Given the description of an element on the screen output the (x, y) to click on. 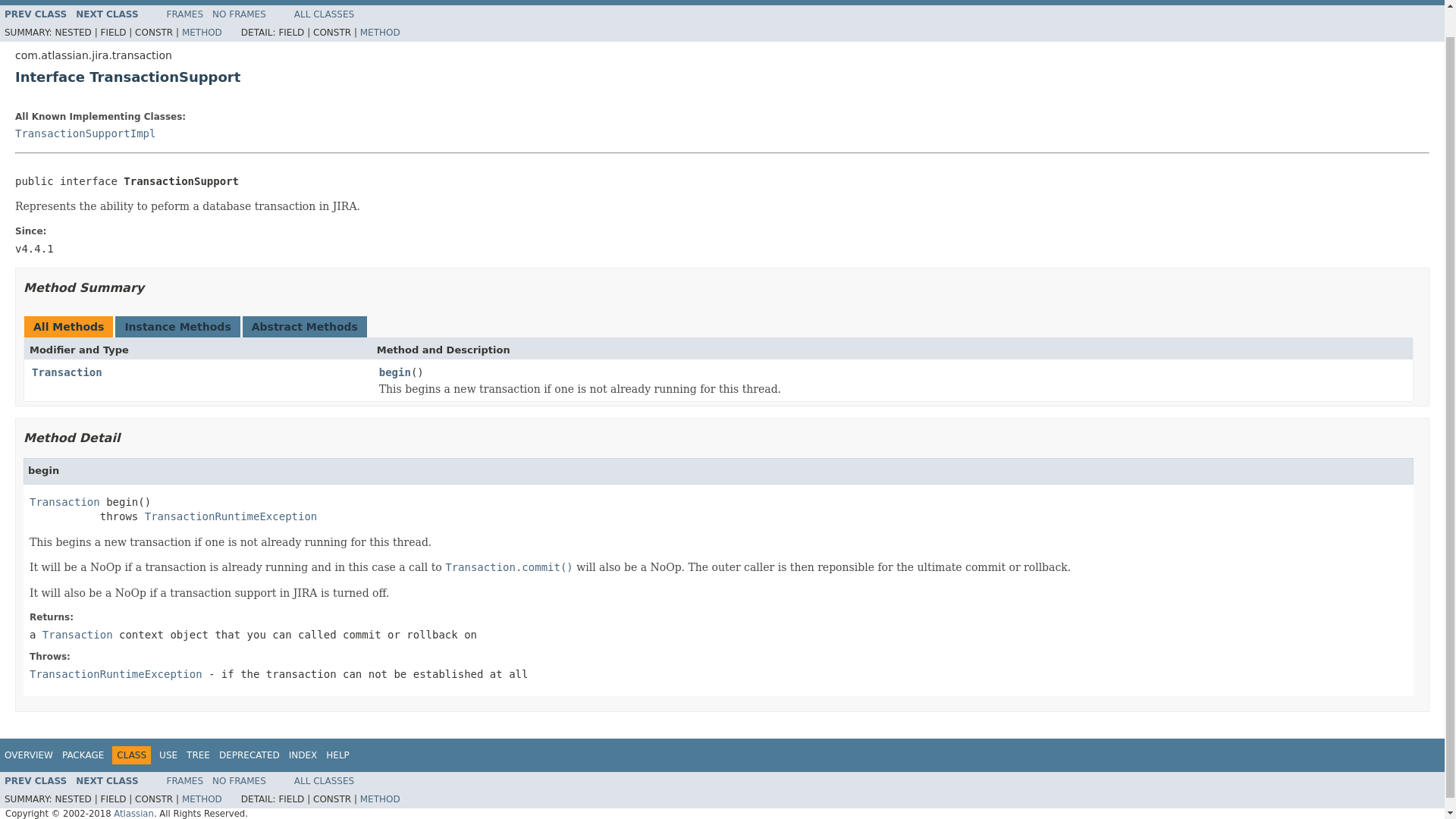
TransactionRuntimeException (115, 674)
begin (394, 373)
interface in com.atlassian.jira.transaction (66, 372)
Instance Methods (176, 326)
Interface TransactionSupport (721, 76)
Abstract Methods (304, 326)
PREV CLASS (35, 14)
Transaction (64, 500)
OVERVIEW (28, 755)
interface in com.atlassian.jira.transaction (77, 634)
interface in com.atlassian.jira.transaction (64, 500)
class in com.atlassian.jira.transaction (230, 516)
class in com.atlassian.jira.transaction (84, 133)
TREE (197, 755)
class in com.atlassian.jira.transaction (106, 780)
